Given the description of an element on the screen output the (x, y) to click on. 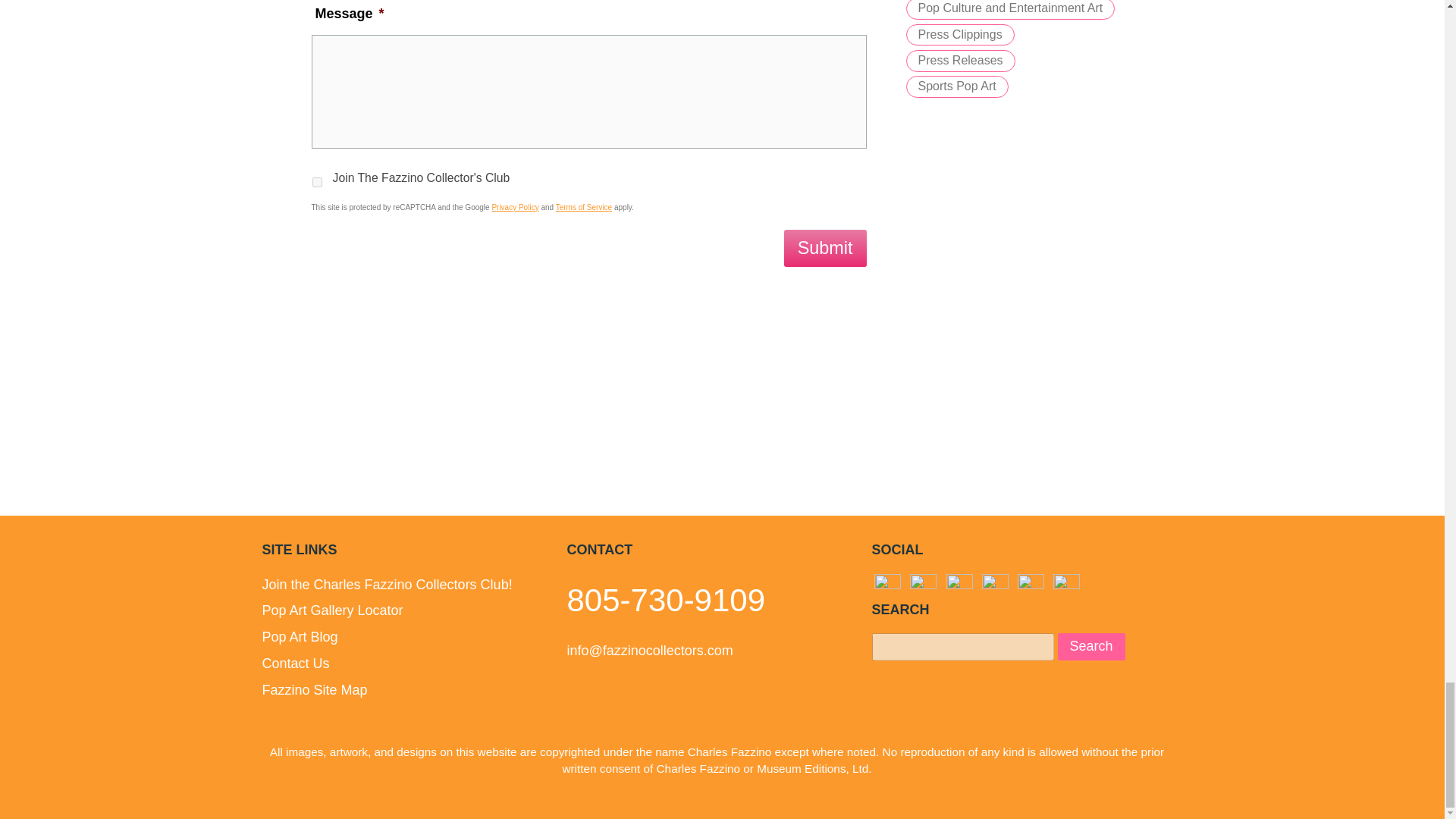
Join The Fazzino Collector's Club (317, 182)
Search (1091, 646)
Submit (825, 248)
